Given the description of an element on the screen output the (x, y) to click on. 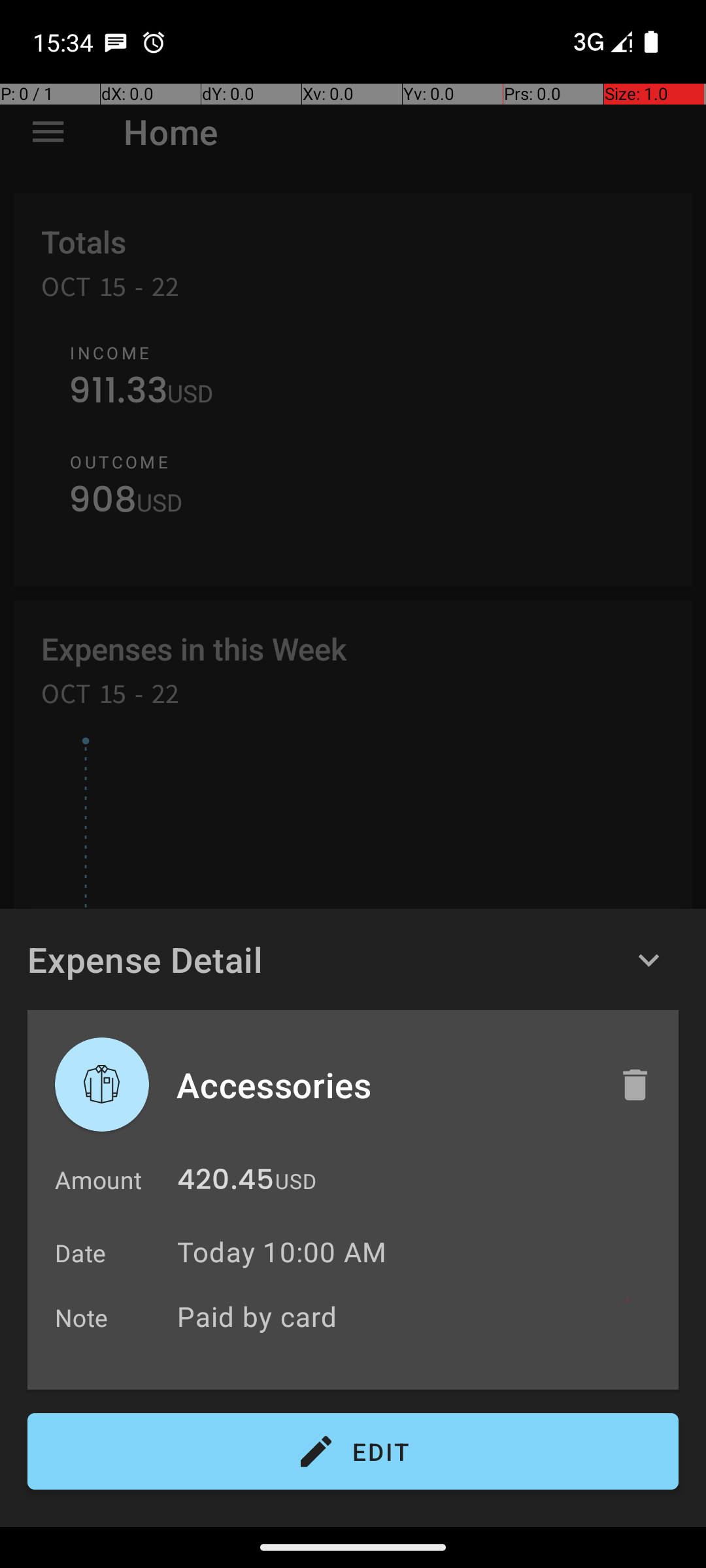
420.45 Element type: android.widget.TextView (225, 1182)
Today 10:00 AM Element type: android.widget.TextView (281, 1251)
